Given the description of an element on the screen output the (x, y) to click on. 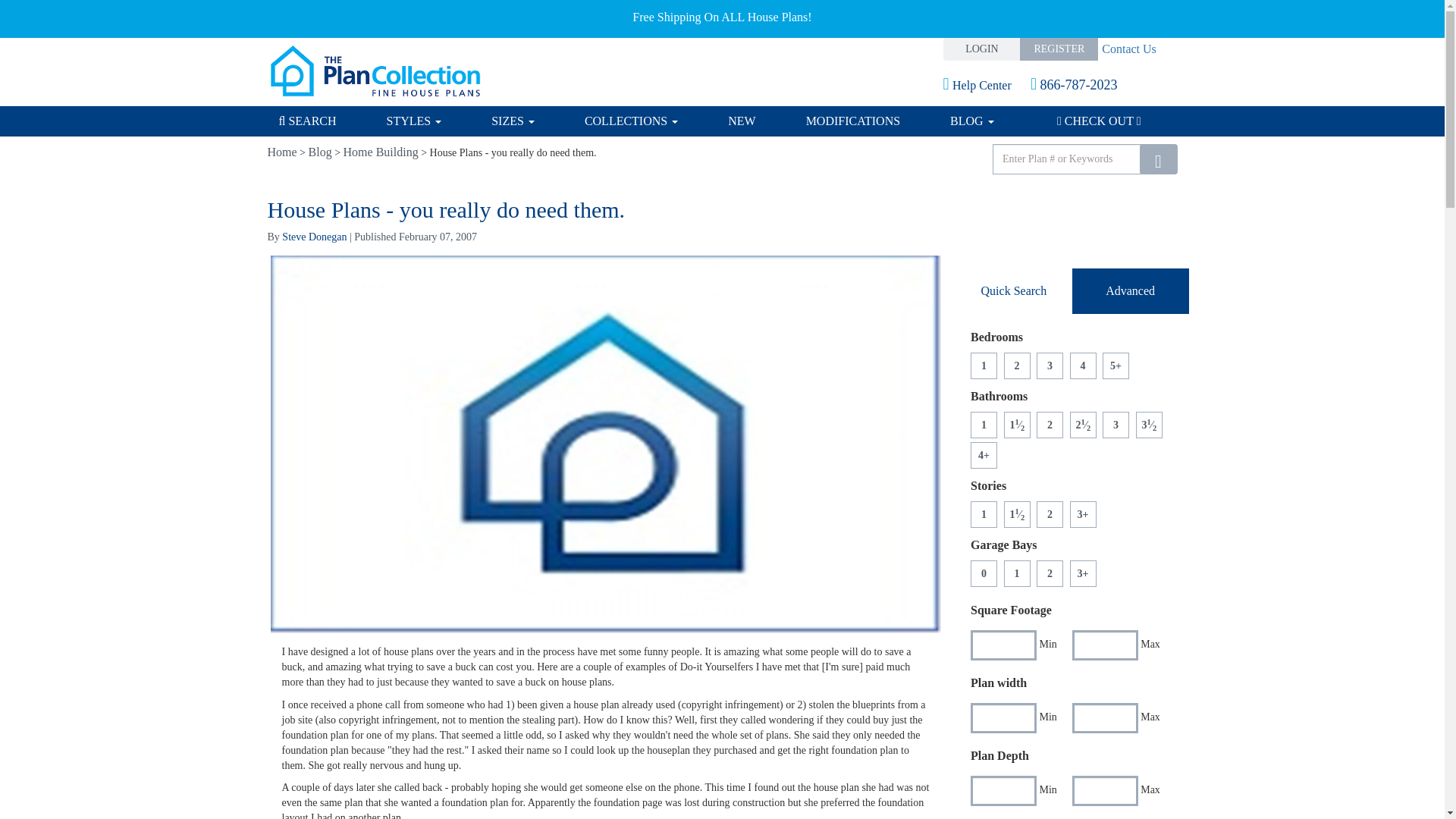
STYLES (414, 121)
Contact Us (1126, 48)
REGISTER (1058, 48)
SEARCH (320, 121)
LOGIN (982, 48)
Help Center (989, 84)
SIZES (512, 121)
